Given the description of an element on the screen output the (x, y) to click on. 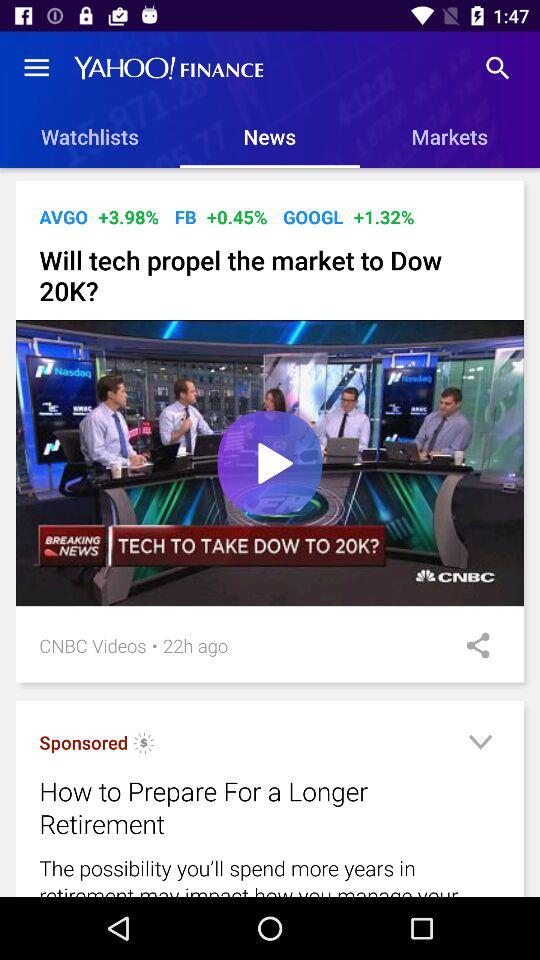
press icon above the 22h ago item (269, 462)
